Given the description of an element on the screen output the (x, y) to click on. 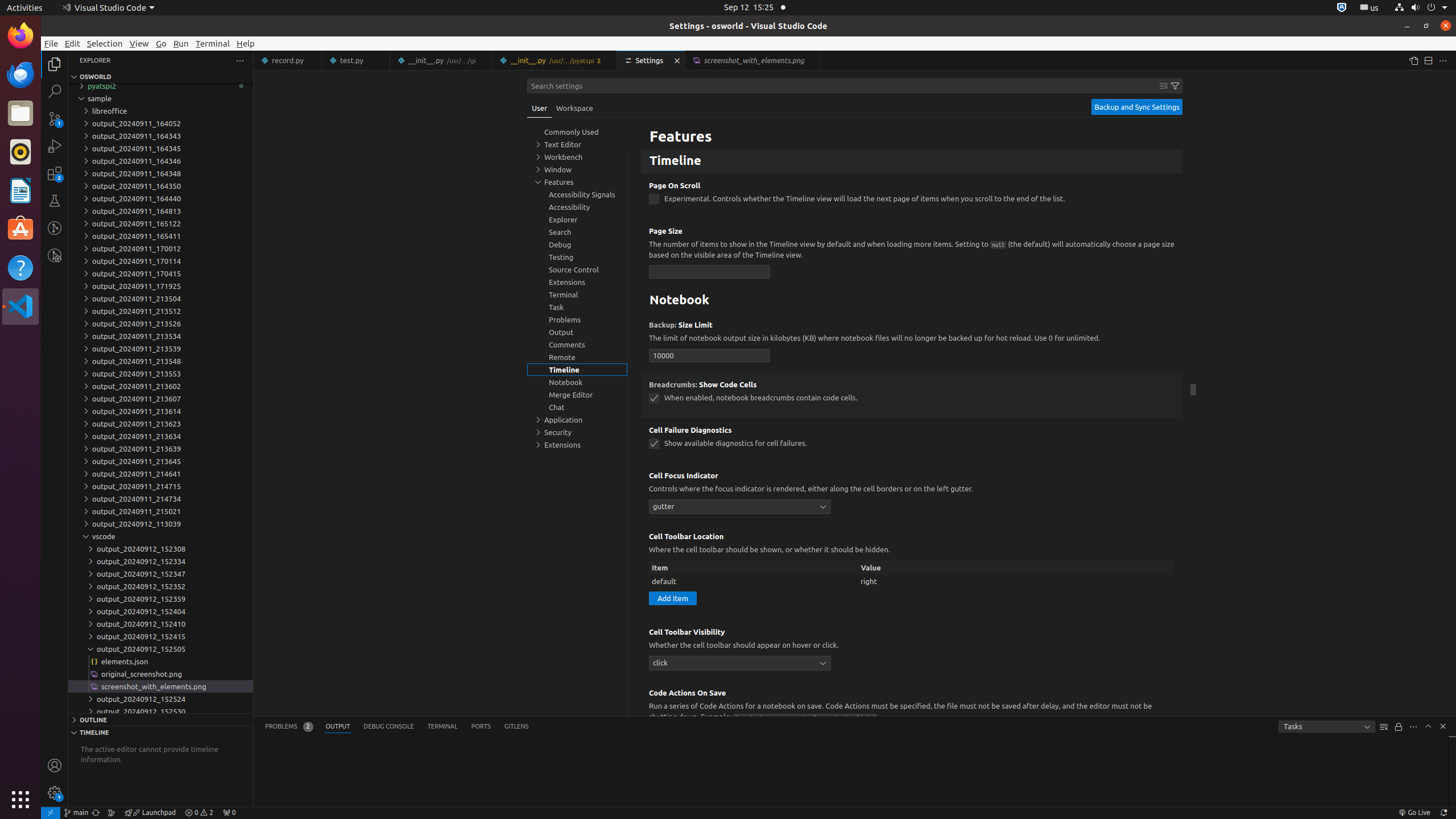
remote.tunnels.access.preventSleep Element type: check-box (653, 129)
output_20240912_113039 Element type: tree-item (160, 523)
output_20240911_214715 Element type: tree-item (160, 486)
click Element type: menu-item (739, 662)
